Given the description of an element on the screen output the (x, y) to click on. 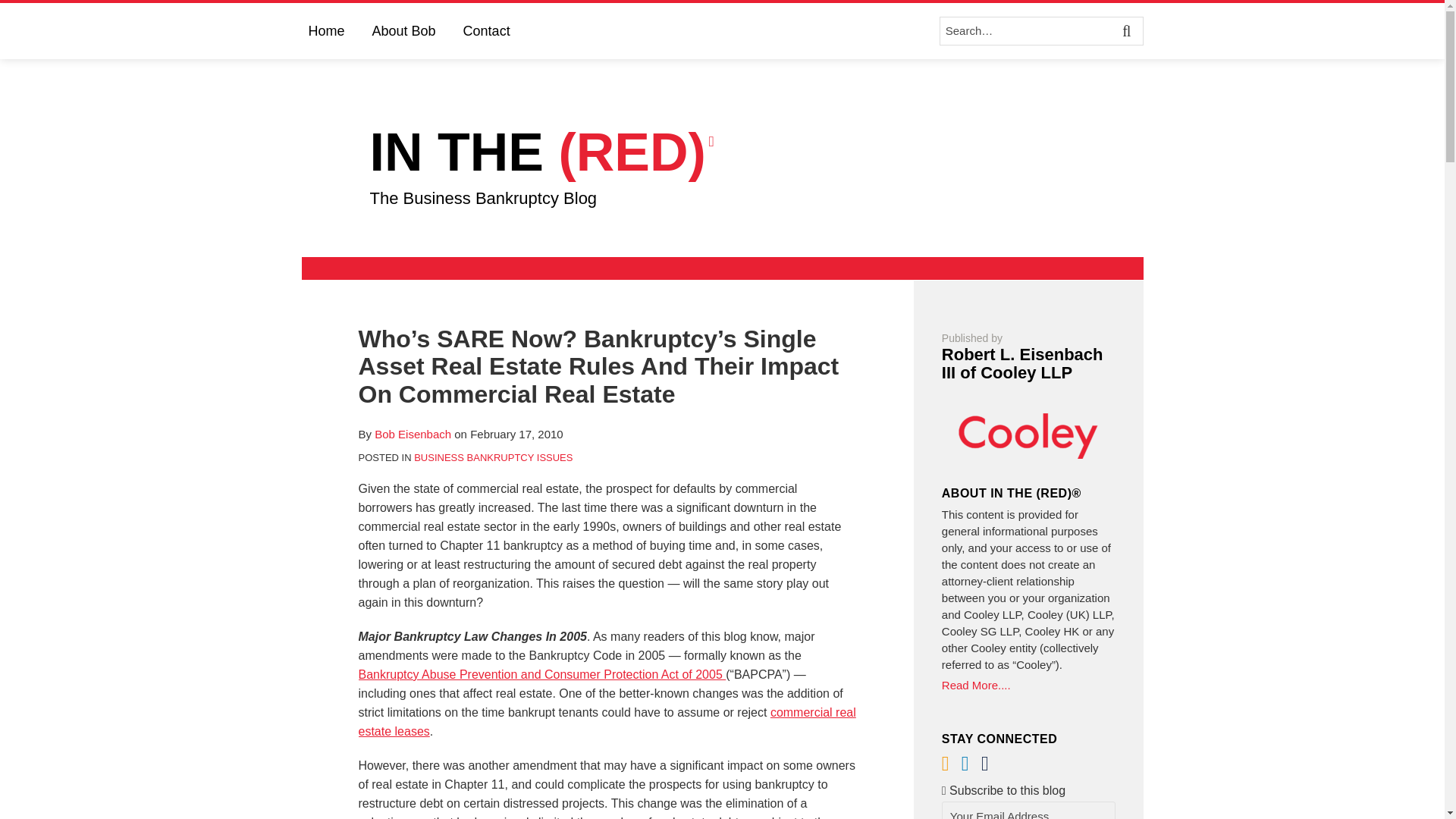
BUSINESS BANKRUPTCY ISSUES (492, 457)
commercial real estate leases (607, 721)
Bob Eisenbach (412, 433)
About Bob (403, 31)
Home (325, 31)
SEARCH (1128, 31)
Contact (487, 31)
